Given the description of an element on the screen output the (x, y) to click on. 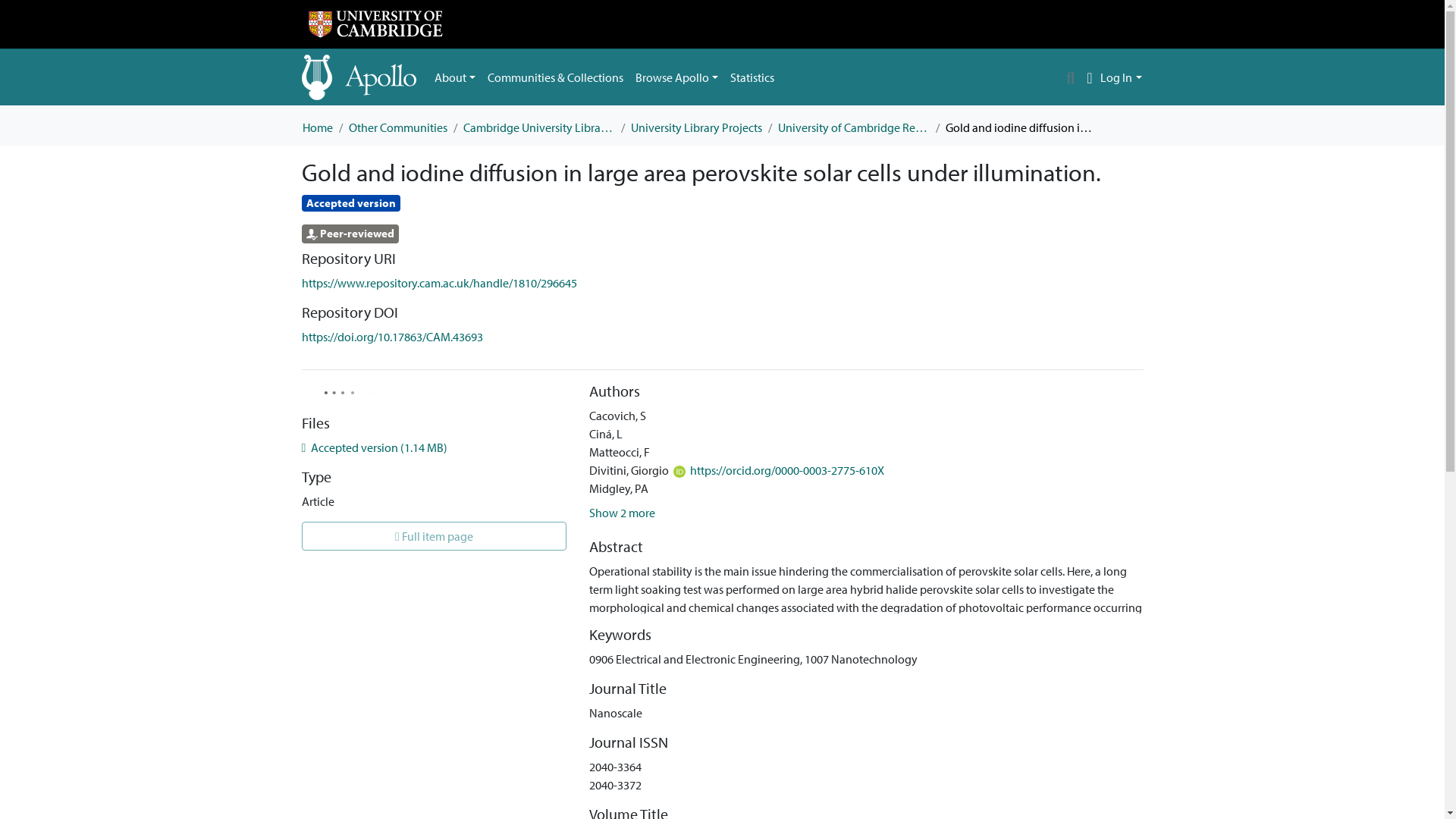
Statistics (751, 77)
About (454, 77)
Home (316, 126)
University Library Projects (695, 126)
Statistics (751, 77)
Cambridge University Libraries (538, 126)
Language switch (1089, 76)
Full item page (434, 535)
Other Communities (397, 126)
Log In (1120, 77)
